Given the description of an element on the screen output the (x, y) to click on. 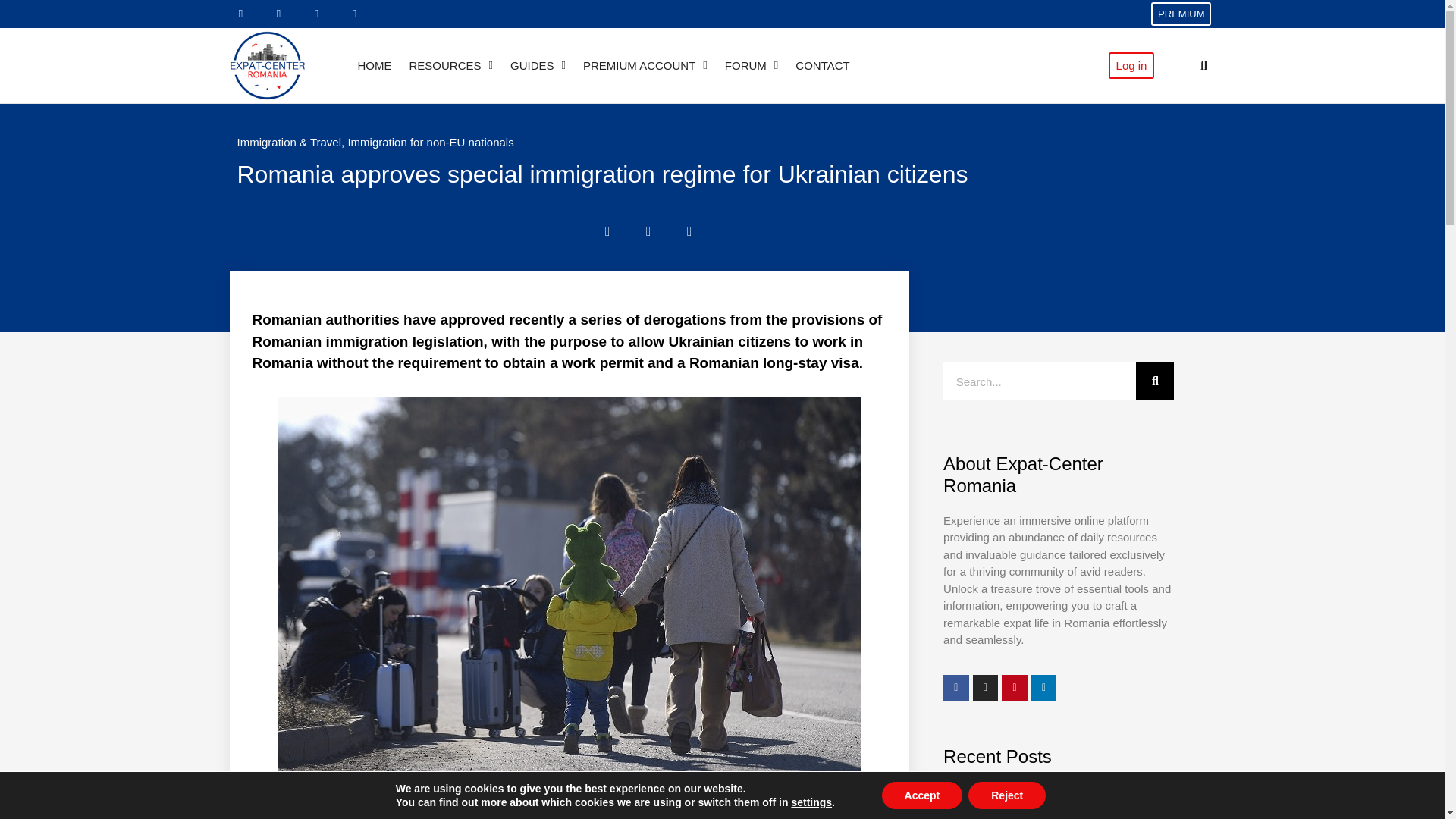
PREMIUM ACCOUNT (645, 65)
PREMIUM (1181, 13)
RESOURCES (450, 65)
HOME (373, 65)
GUIDES (537, 65)
CONTACT (822, 65)
FORUM (751, 65)
